Given the description of an element on the screen output the (x, y) to click on. 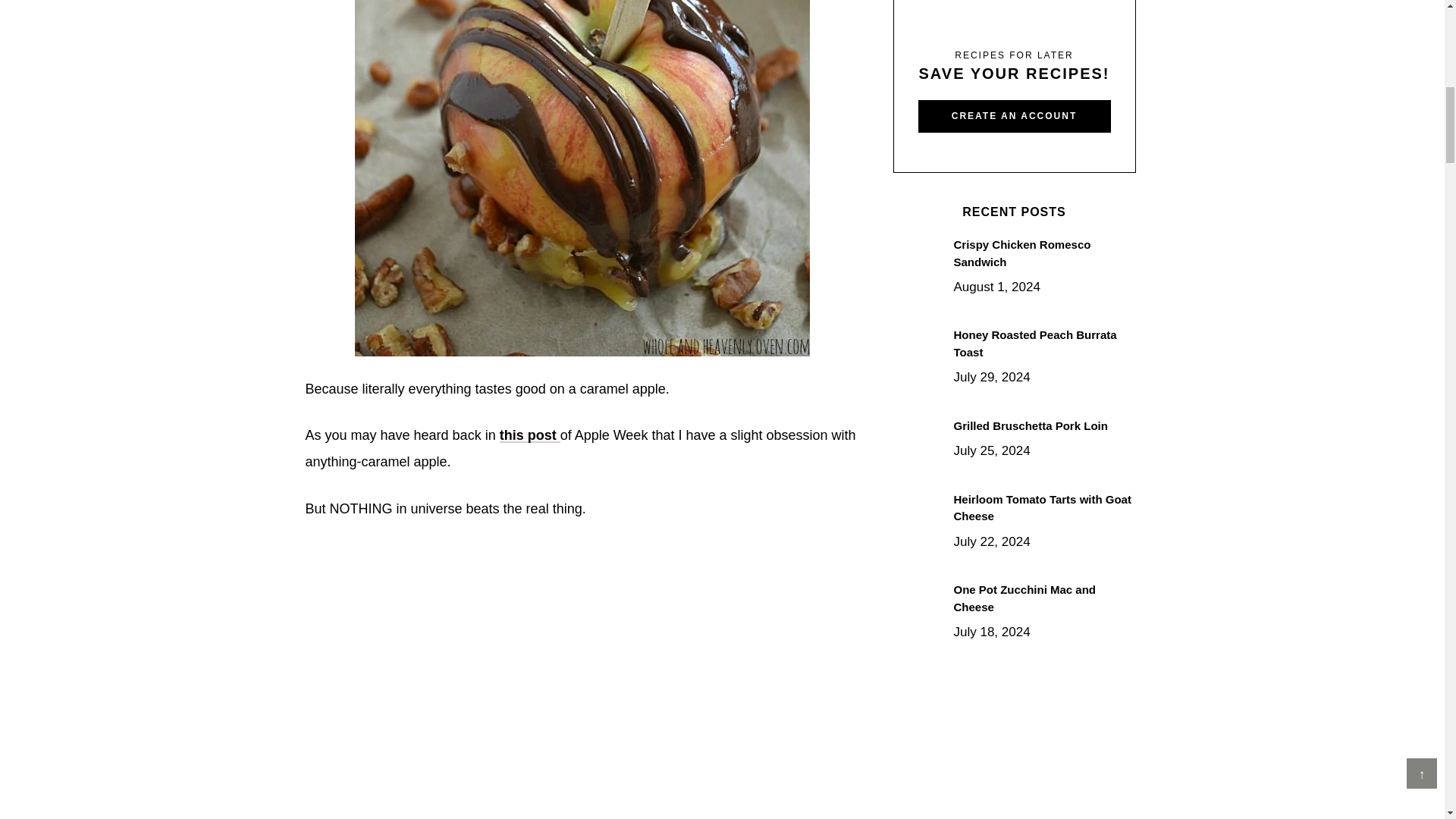
Sticky Caramel Apple Upside-Down Cake (529, 435)
